Given the description of an element on the screen output the (x, y) to click on. 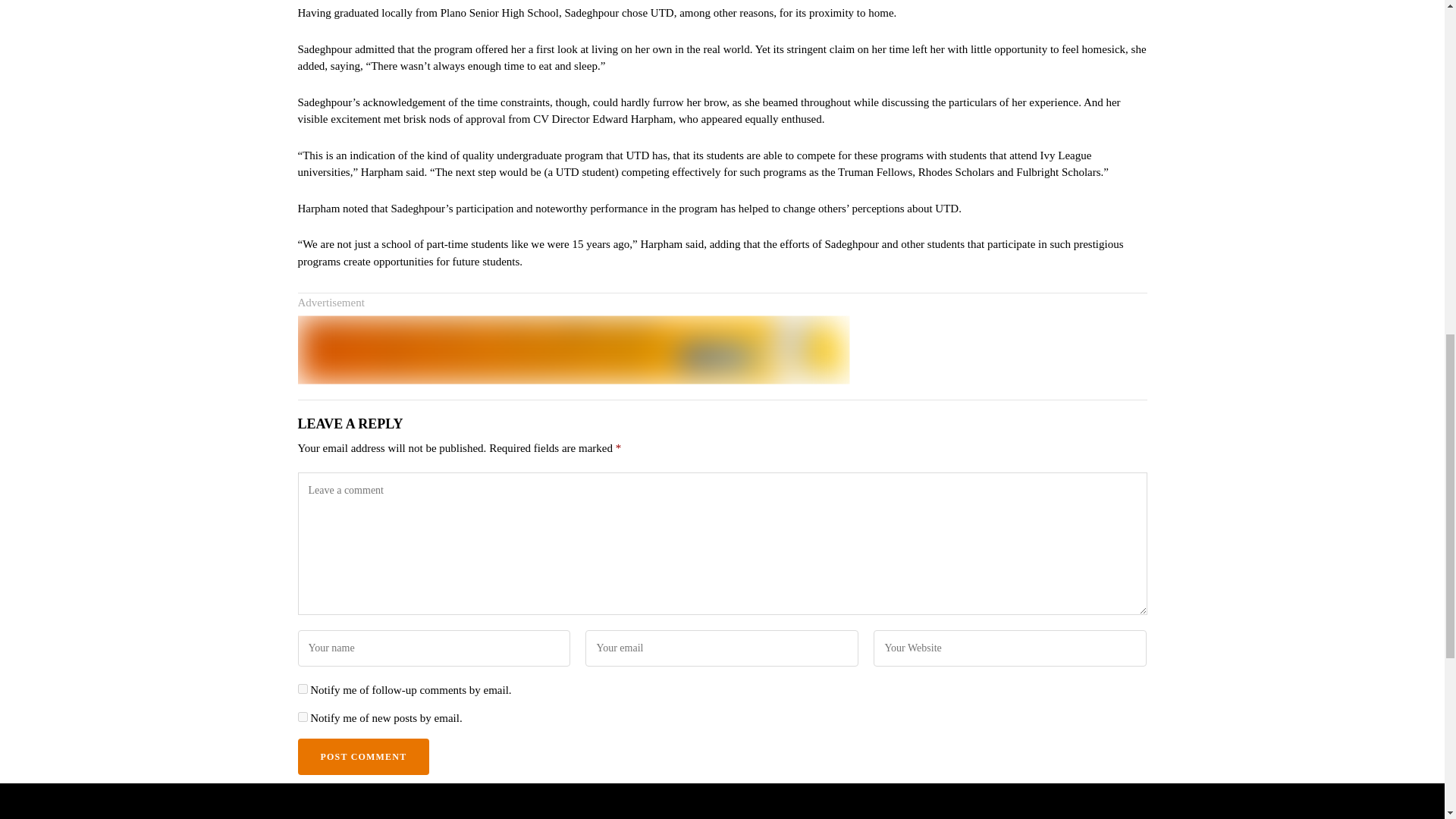
Post Comment (363, 756)
subscribe (302, 688)
subscribe (302, 716)
